Given the description of an element on the screen output the (x, y) to click on. 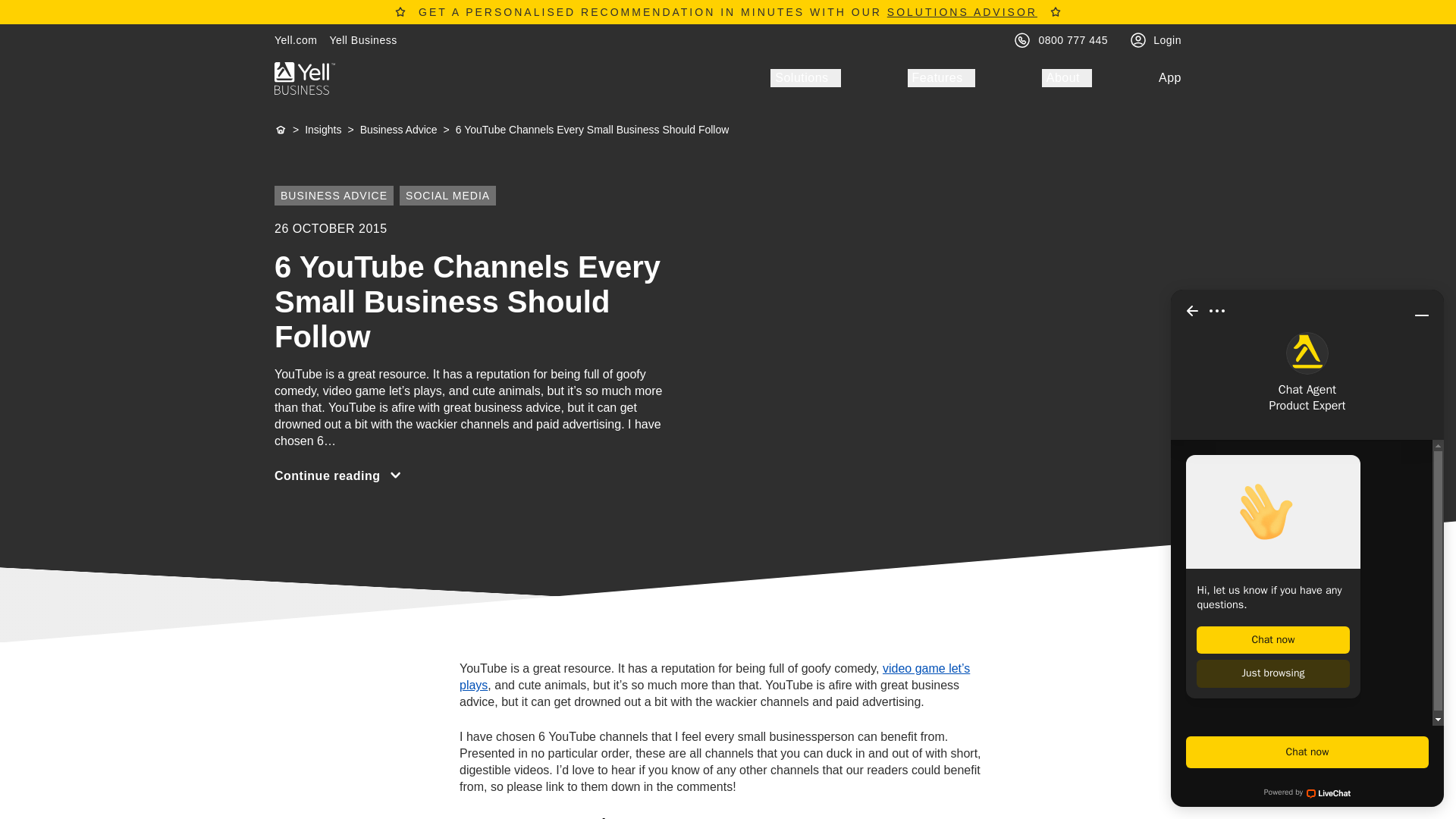
0800 777 445 (1073, 39)
Yell.com (296, 39)
Solutions (805, 77)
SOLUTIONS ADVISOR (961, 11)
Yell Business (362, 39)
Features (941, 77)
About (1067, 77)
Login (1166, 39)
